Given the description of an element on the screen output the (x, y) to click on. 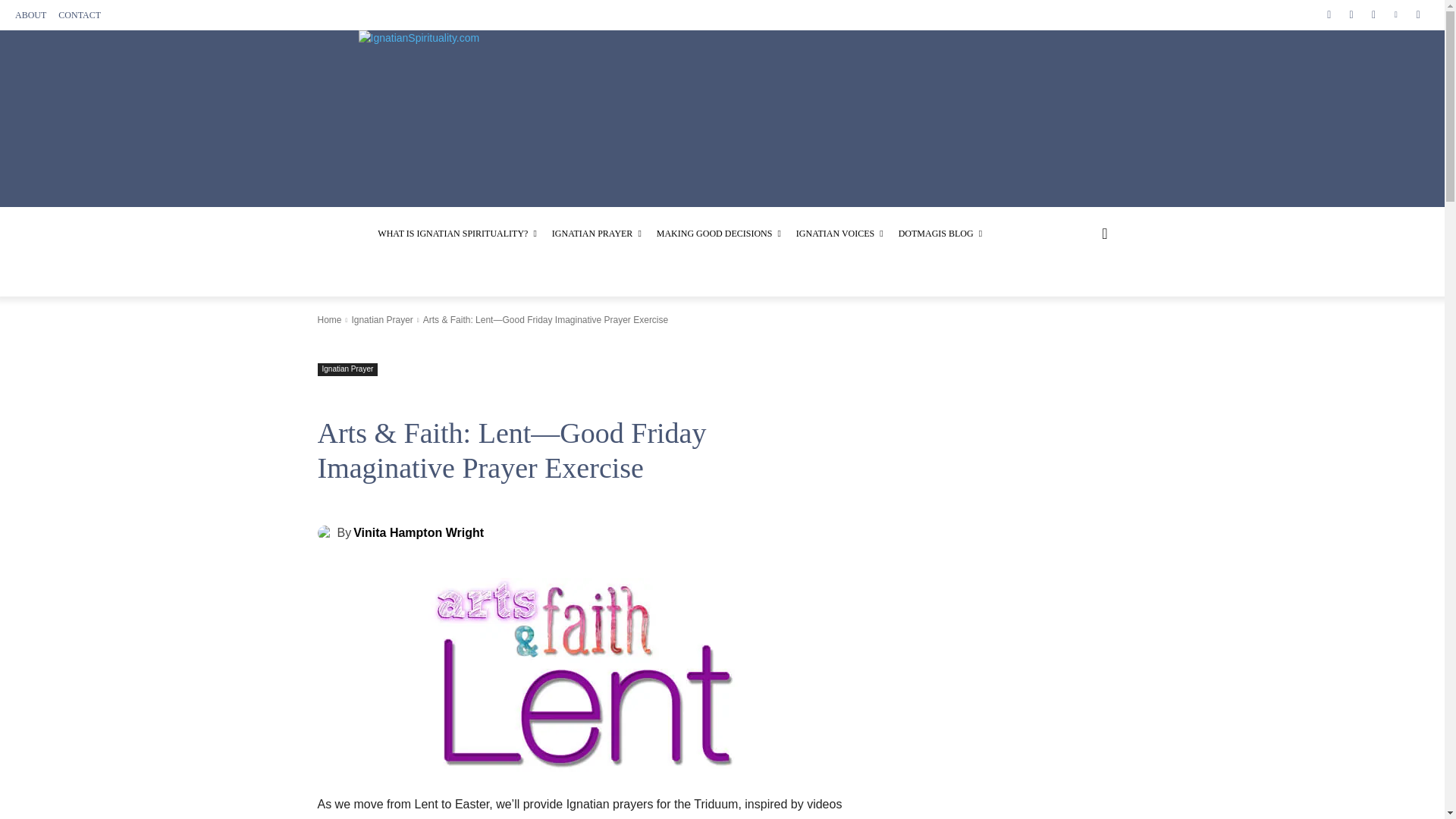
Instagram (1350, 14)
Twitter (1373, 14)
ABOUT (30, 15)
Facebook (1328, 14)
Vimeo (1395, 14)
CONTACT (79, 15)
Youtube (1418, 14)
